Given the description of an element on the screen output the (x, y) to click on. 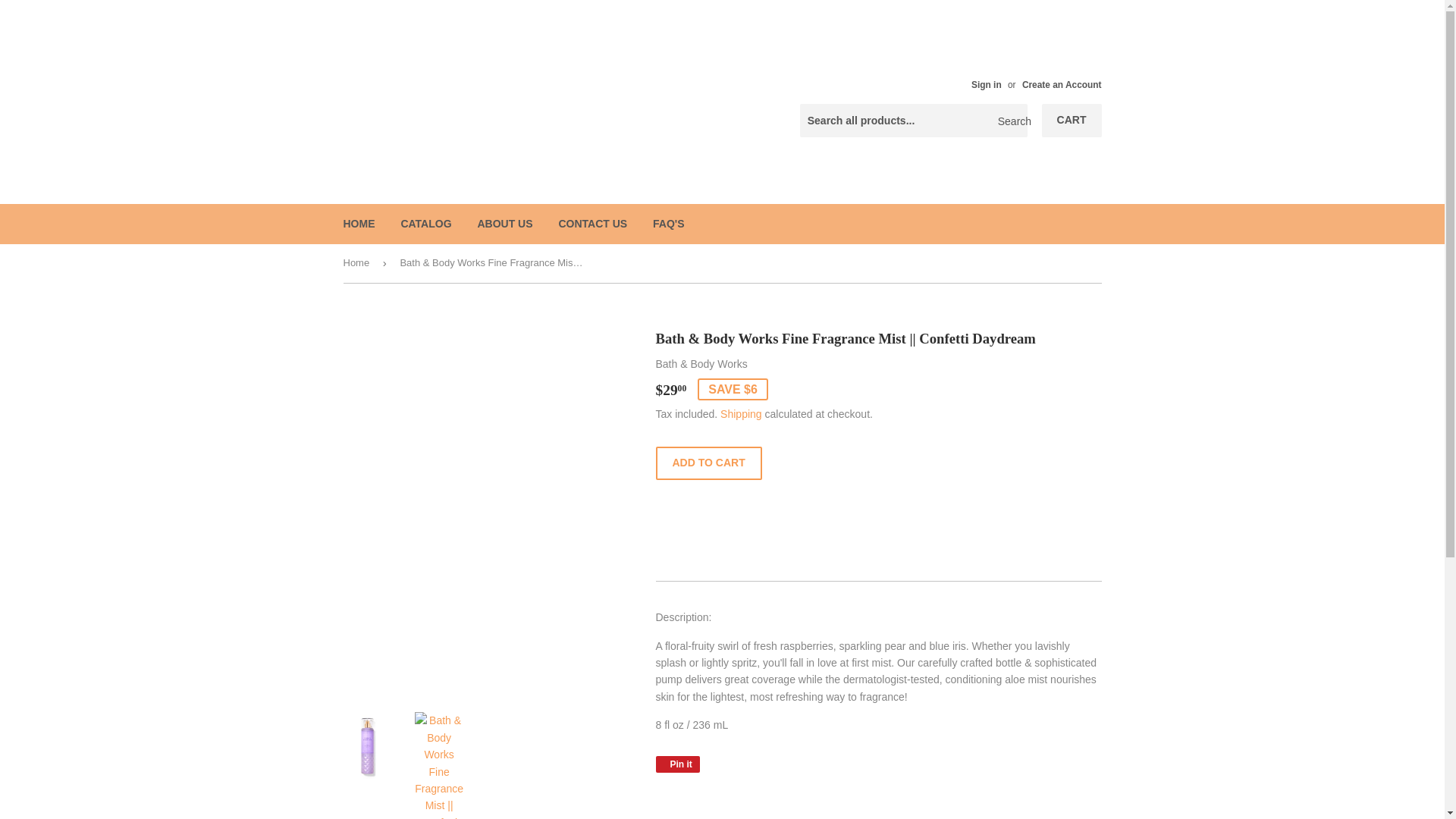
Search (1009, 121)
Create an Account (1062, 84)
Pin on Pinterest (676, 764)
Sign in (986, 84)
HOME (359, 223)
CART (1072, 120)
CATALOG (425, 223)
